Given the description of an element on the screen output the (x, y) to click on. 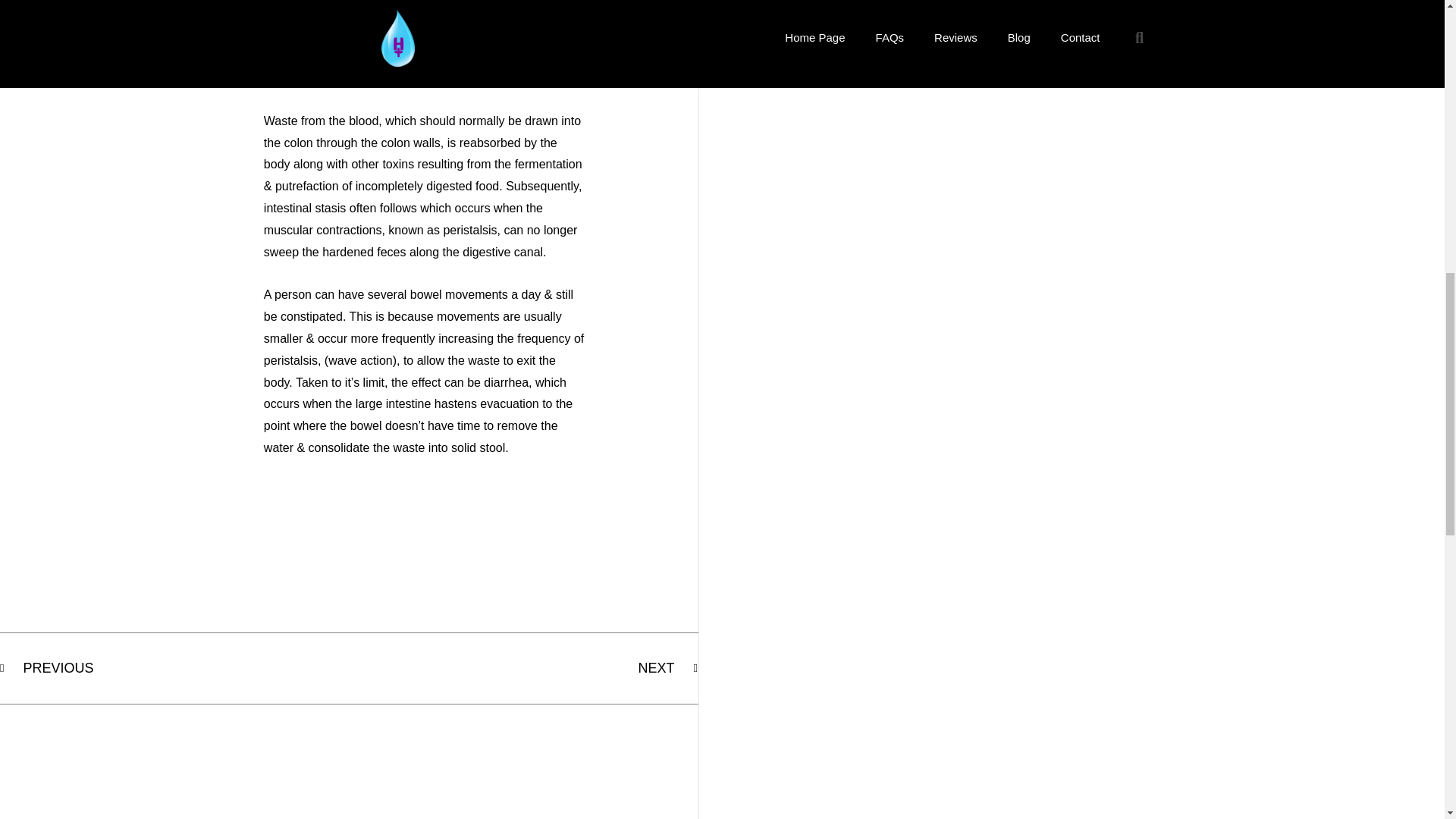
PREVIOUS (174, 668)
NEXT (523, 668)
